Given the description of an element on the screen output the (x, y) to click on. 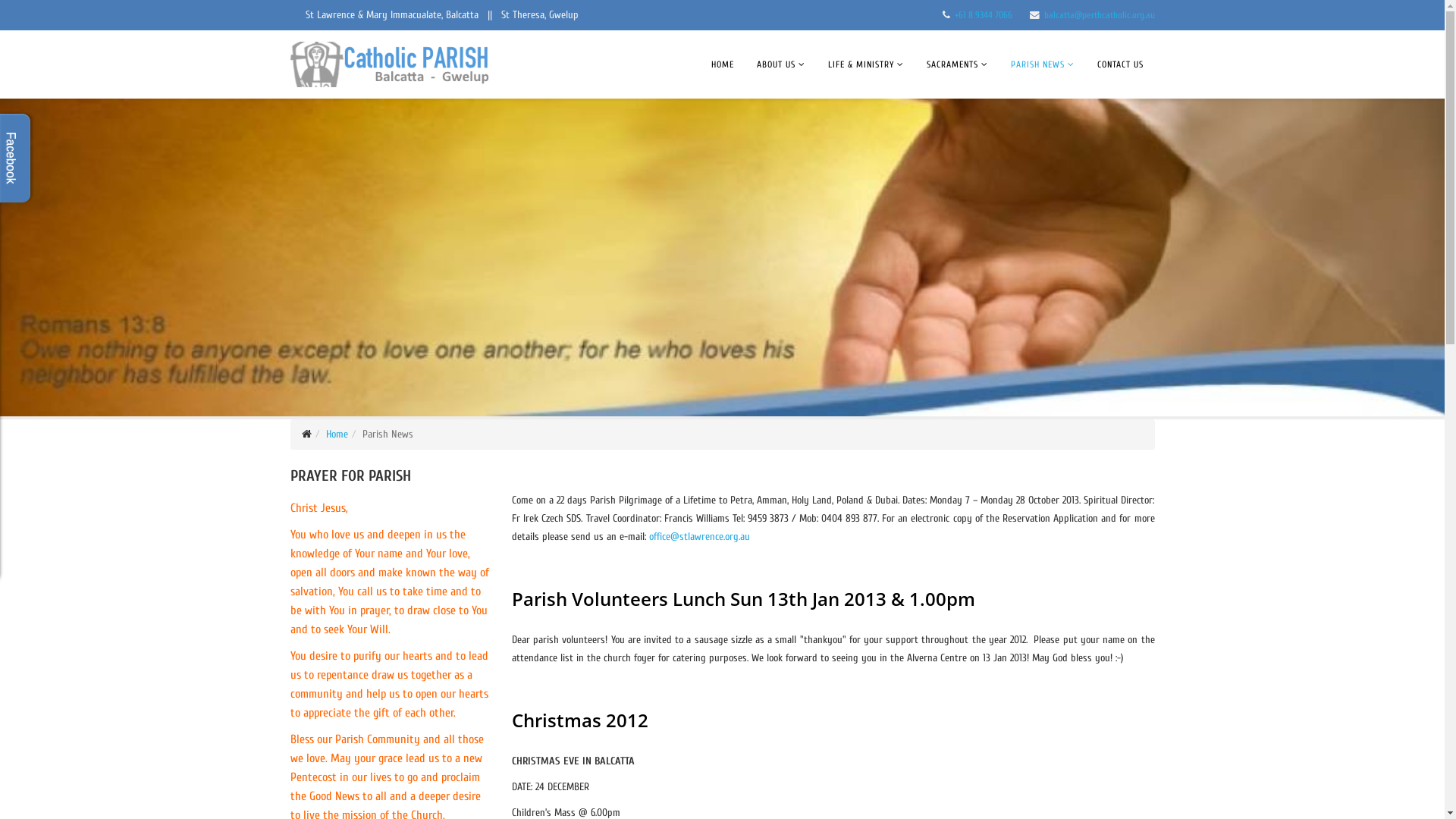
office@stlawrence.org.au Element type: text (699, 536)
CONTACT US Element type: text (1119, 64)
Parish Volunteers Lunch Sun 13th Jan 2013 & 1.00pm Element type: text (743, 598)
HOME Element type: text (721, 64)
SACRAMENTS Element type: text (956, 64)
Christmas 2012 Element type: text (579, 719)
+61 8 9344 7066 Element type: text (982, 14)
balcatta@perthcatholic.org.au Element type: text (1098, 14)
ABOUT US Element type: text (779, 64)
Home Element type: text (337, 433)
PARISH NEWS Element type: text (1042, 64)
LIFE & MINISTRY Element type: text (864, 64)
